Given the description of an element on the screen output the (x, y) to click on. 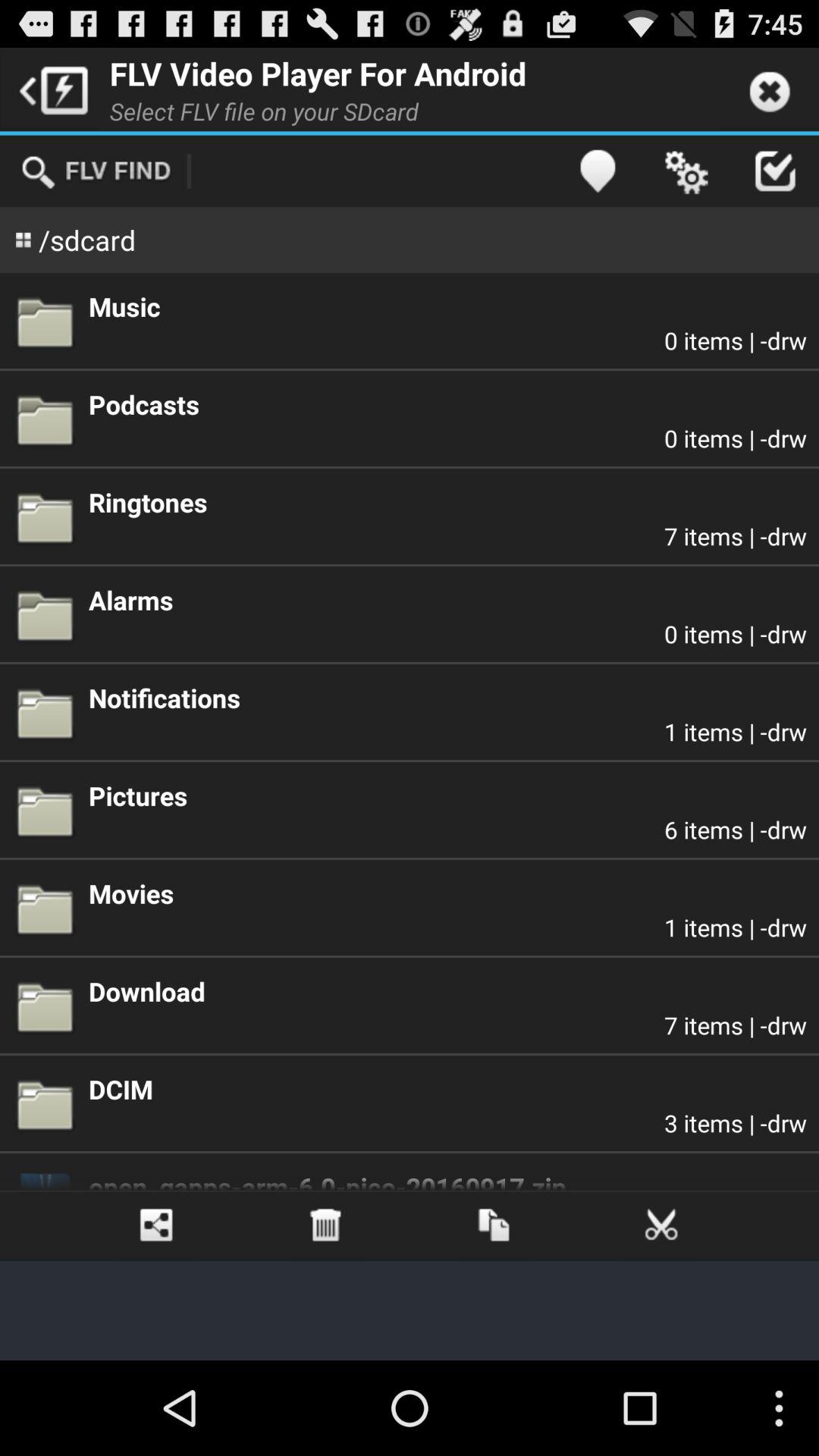
choose the icon below the 0 items | -drw app (447, 501)
